Given the description of an element on the screen output the (x, y) to click on. 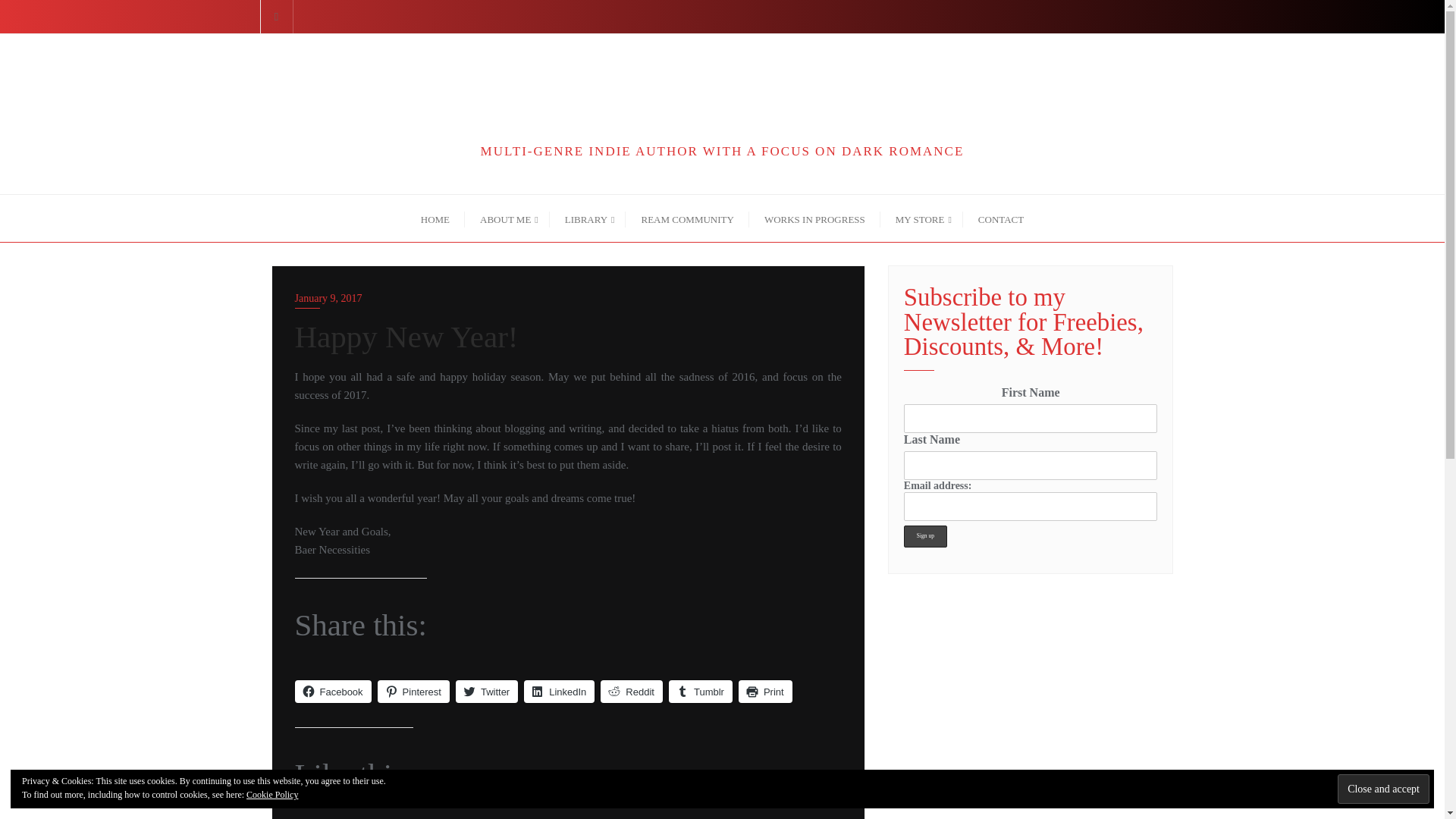
REAM COMMUNITY (687, 217)
Close and accept (1383, 788)
Click to share on Pinterest (413, 691)
Click to share on LinkedIn (559, 691)
LIBRARY (588, 217)
ABOUT ME (507, 217)
Click to share on Tumblr (700, 691)
MY STORE (921, 217)
HOME (435, 217)
Sign up (925, 536)
